Given the description of an element on the screen output the (x, y) to click on. 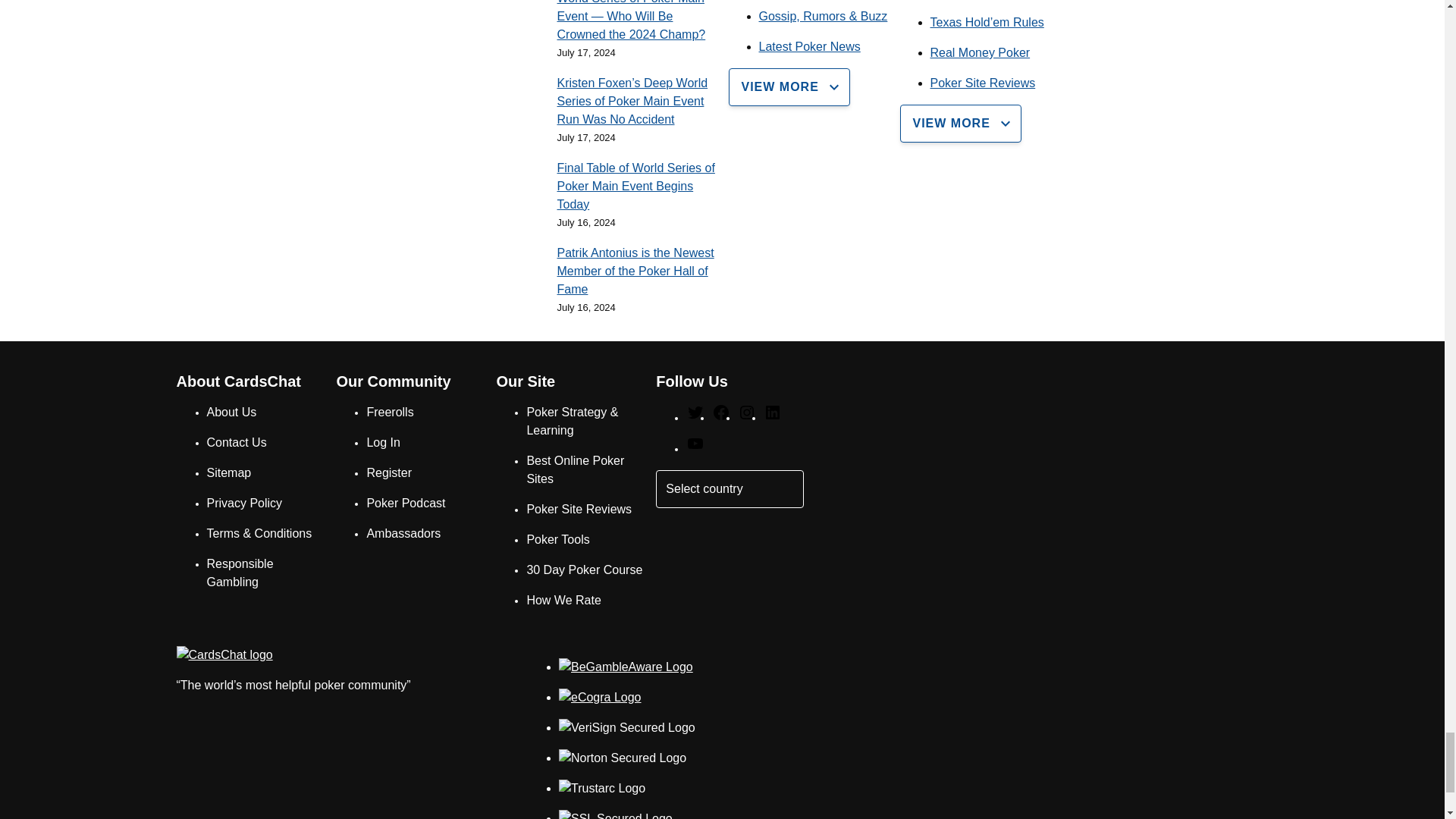
eCogra Logo (600, 697)
VeriSign Secured Logo (627, 728)
BeGambleAware Logo (626, 667)
Trustarc Logo (602, 788)
Norton Secured Logo (622, 758)
SSL Secured Logo (615, 814)
